Given the description of an element on the screen output the (x, y) to click on. 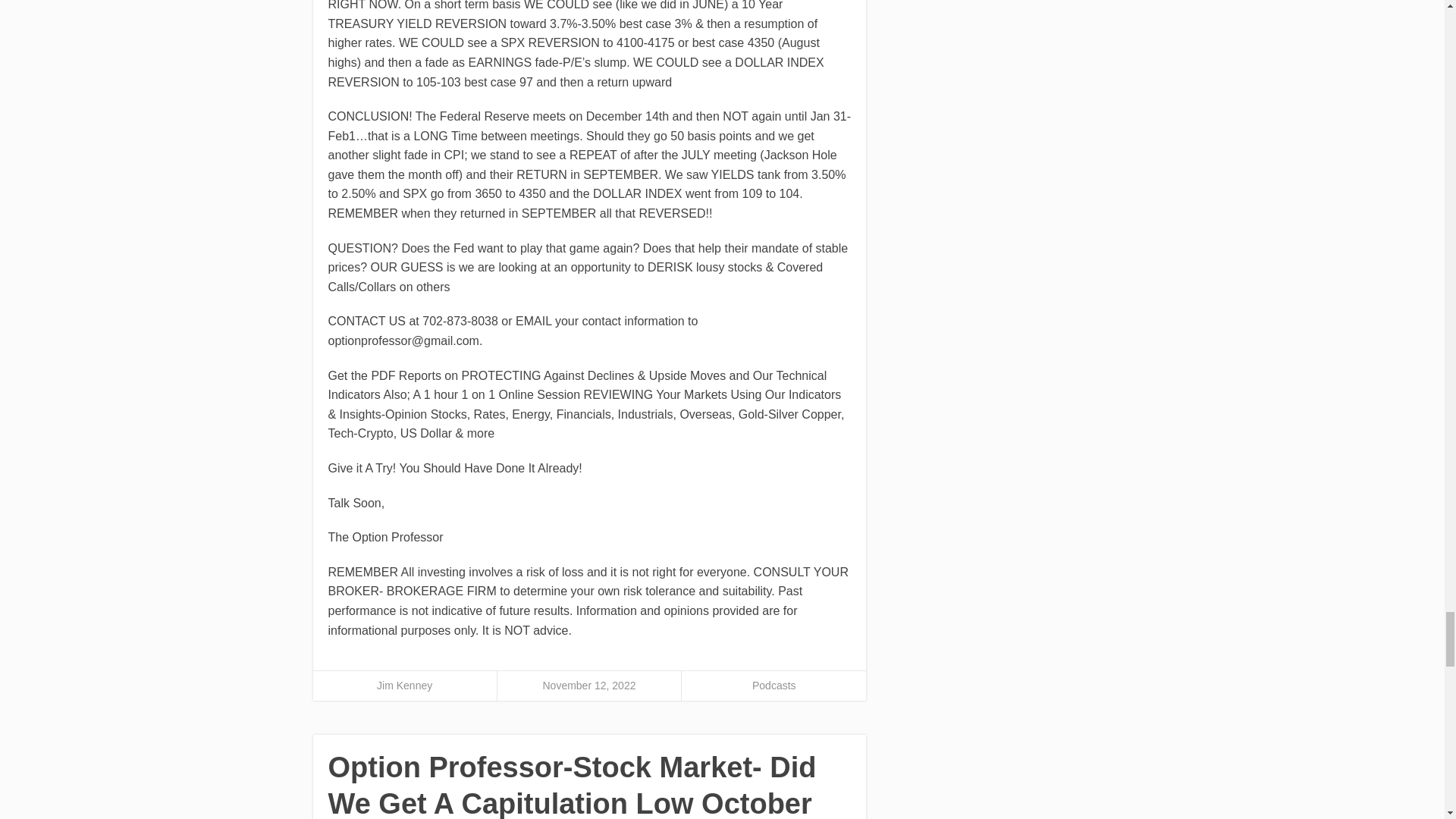
Podcasts (774, 685)
Jim Kenney (404, 685)
